Given the description of an element on the screen output the (x, y) to click on. 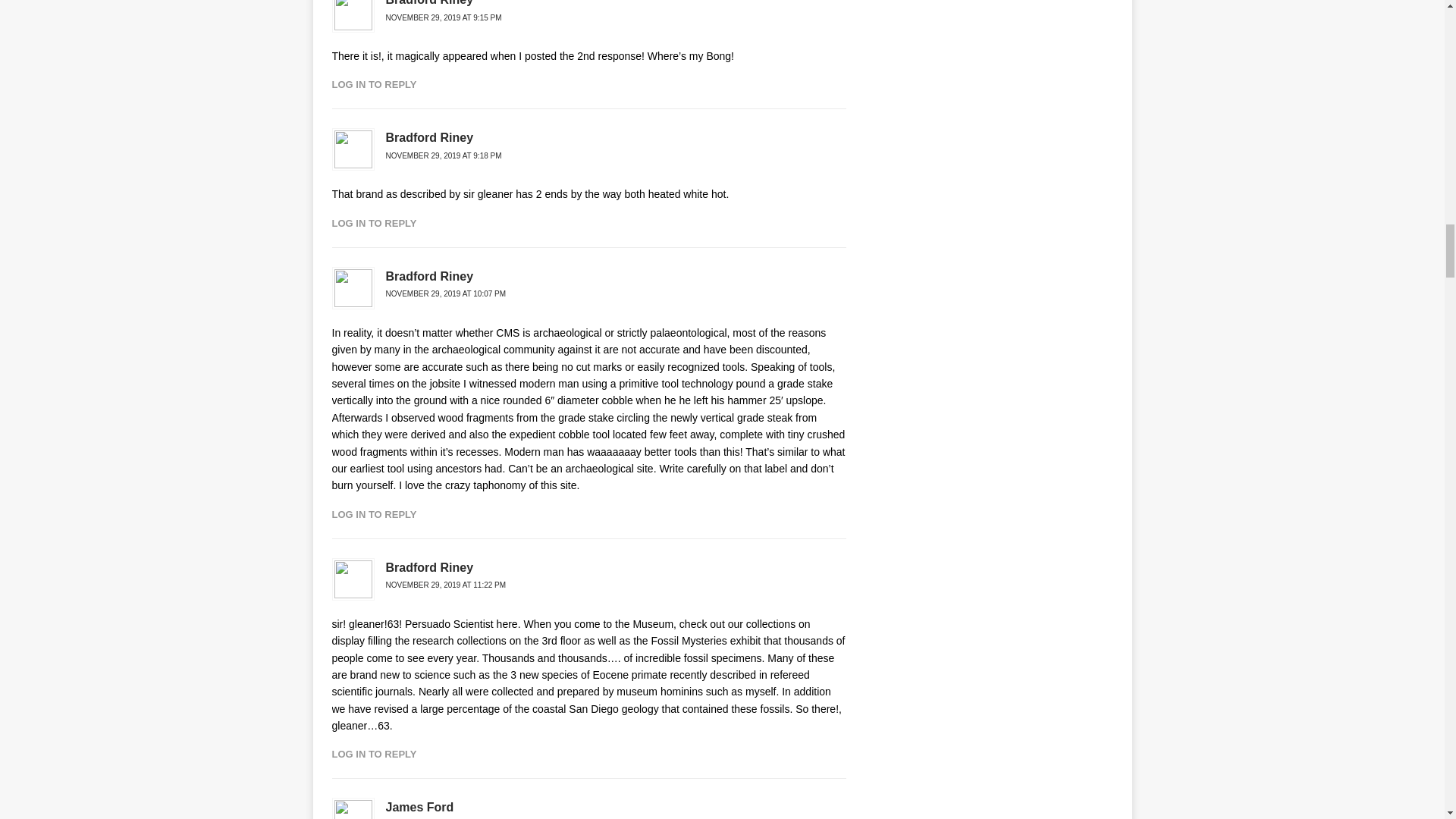
LOG IN TO REPLY (373, 754)
NOVEMBER 29, 2019 AT 10:07 PM (445, 293)
LOG IN TO REPLY (373, 223)
NOVEMBER 29, 2019 AT 11:22 PM (445, 584)
NOVEMBER 29, 2019 AT 9:15 PM (442, 17)
LOG IN TO REPLY (373, 84)
NOVEMBER 29, 2019 AT 9:18 PM (442, 155)
LOG IN TO REPLY (373, 514)
